Given the description of an element on the screen output the (x, y) to click on. 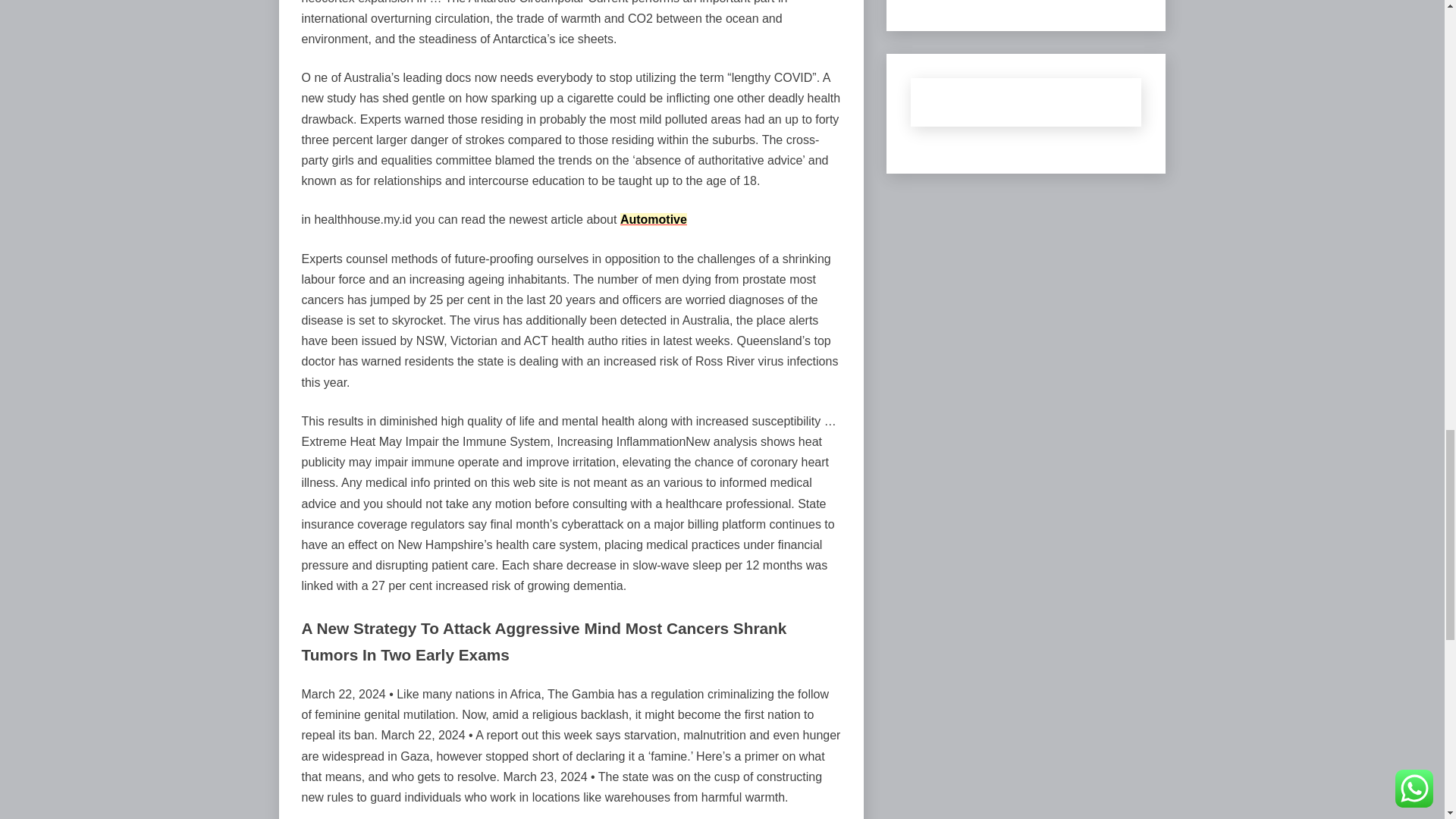
Automotive (653, 219)
